Given the description of an element on the screen output the (x, y) to click on. 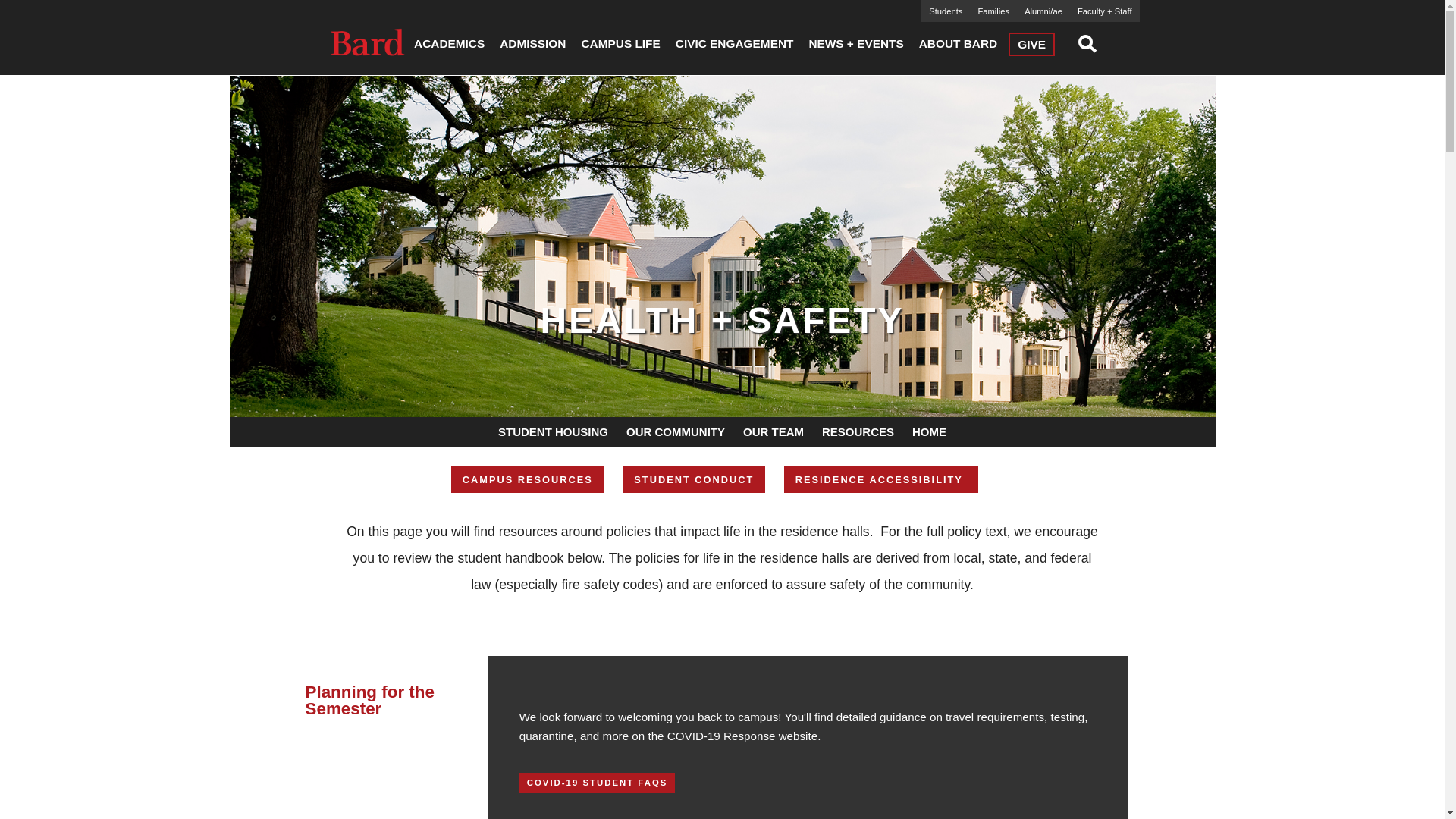
Families (992, 10)
Students (945, 10)
CAMPUS LIFE (619, 43)
ACADEMICS (449, 43)
ADMISSION (532, 43)
BARD (368, 41)
